Given the description of an element on the screen output the (x, y) to click on. 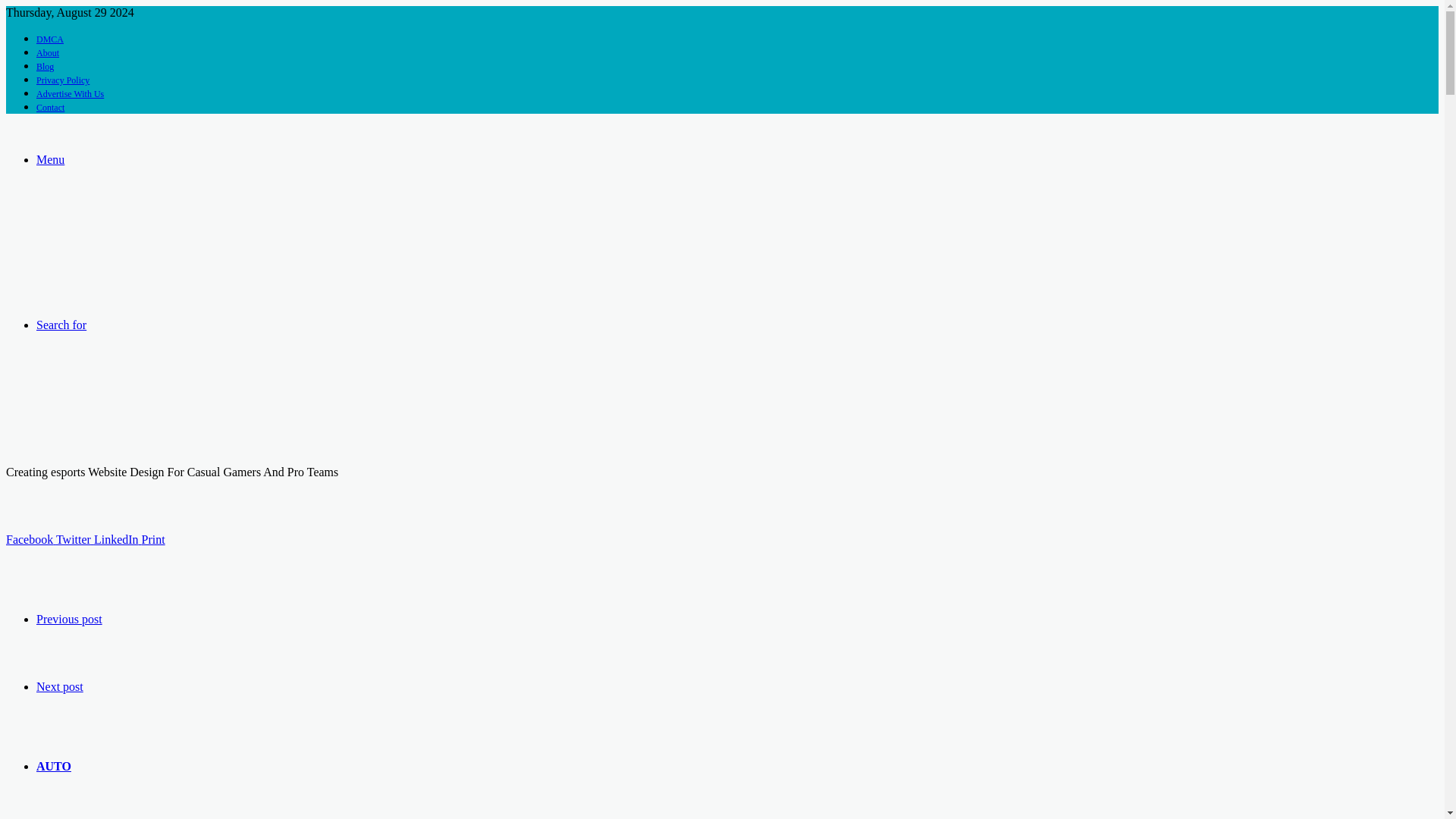
Menu (50, 159)
Next post (59, 686)
Next post (59, 686)
Facebook (30, 539)
Facebook (30, 539)
Twitter (75, 539)
Print (153, 539)
Print (153, 539)
Previous post (68, 618)
About (47, 52)
